Given the description of an element on the screen output the (x, y) to click on. 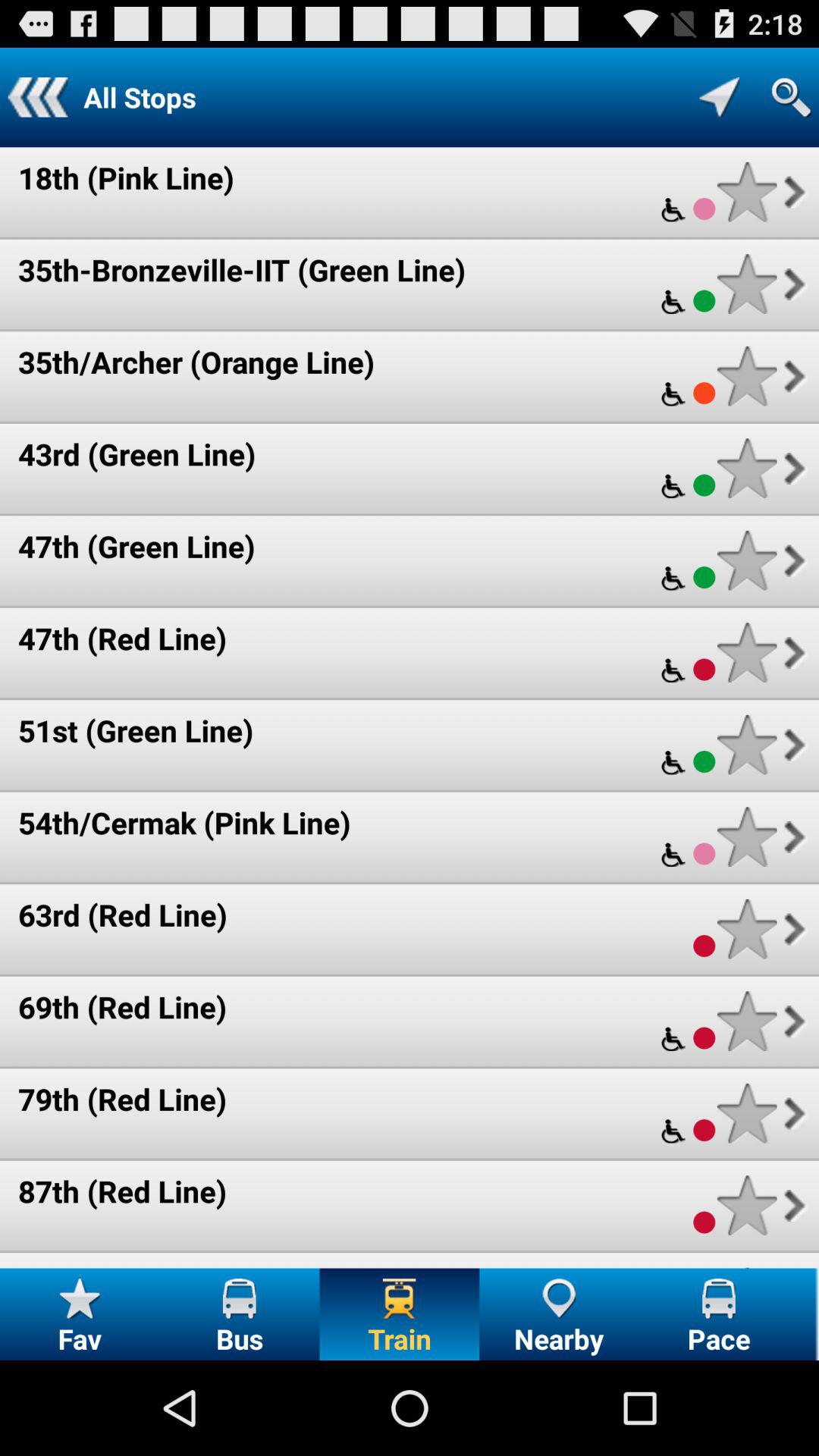
jump until 63rd (red line) icon (122, 914)
